Given the description of an element on the screen output the (x, y) to click on. 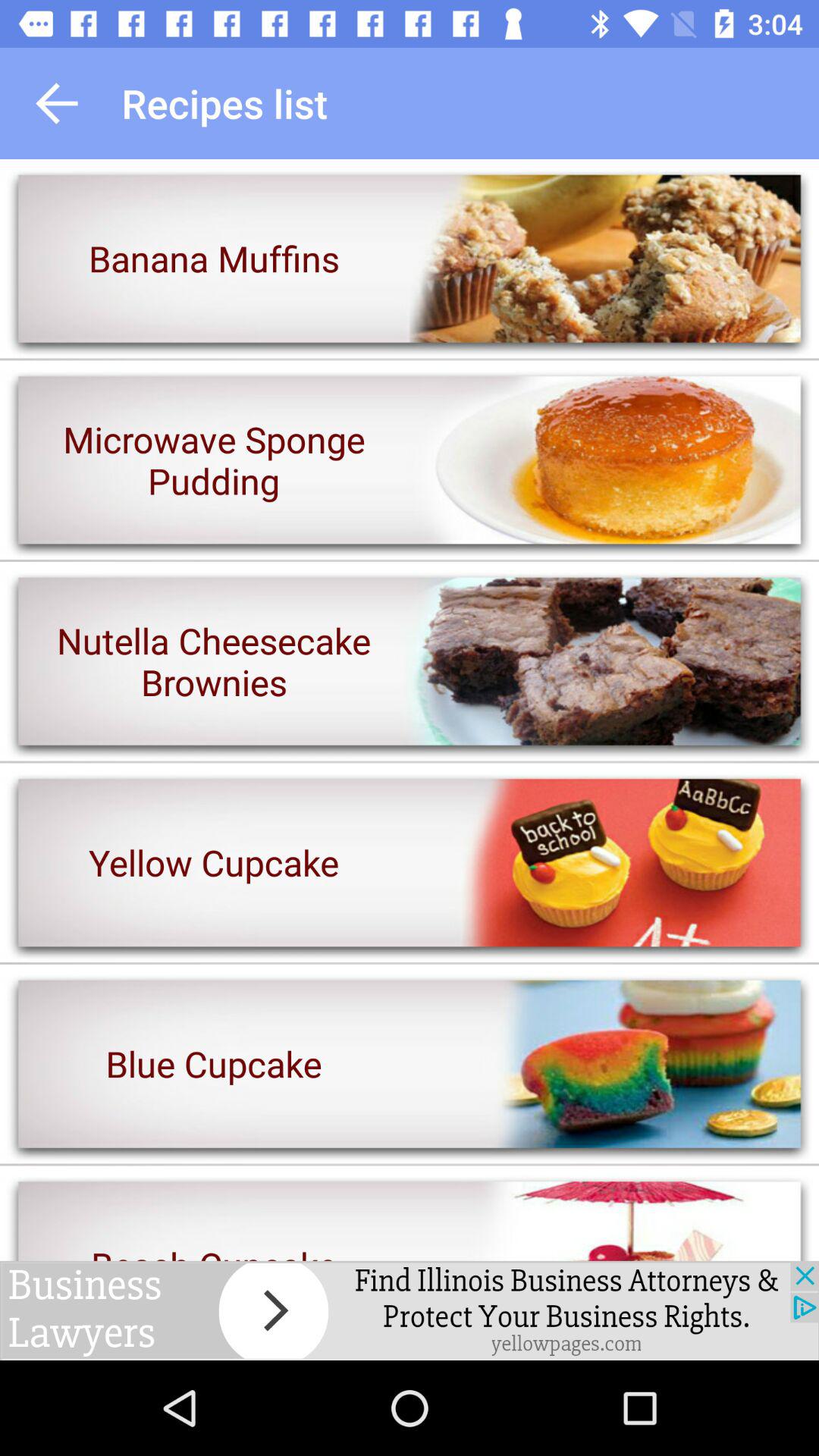
go back one page (56, 103)
